Given the description of an element on the screen output the (x, y) to click on. 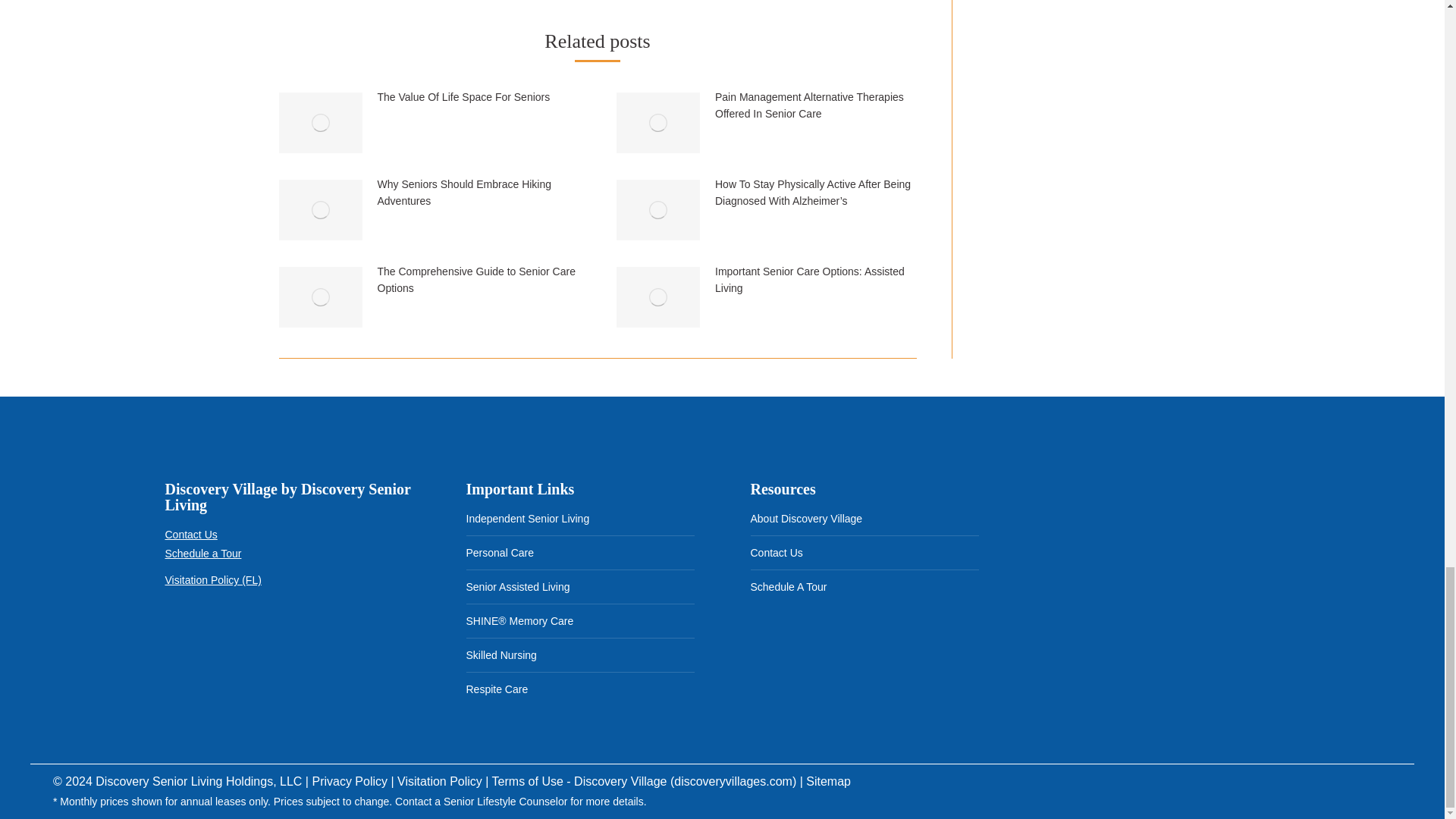
Equal-Housing-Opportunity-logo22-150x144 (259, 639)
Discovery Map (1148, 567)
Equal-Housing-Opportunity-logo222 (189, 638)
